Given the description of an element on the screen output the (x, y) to click on. 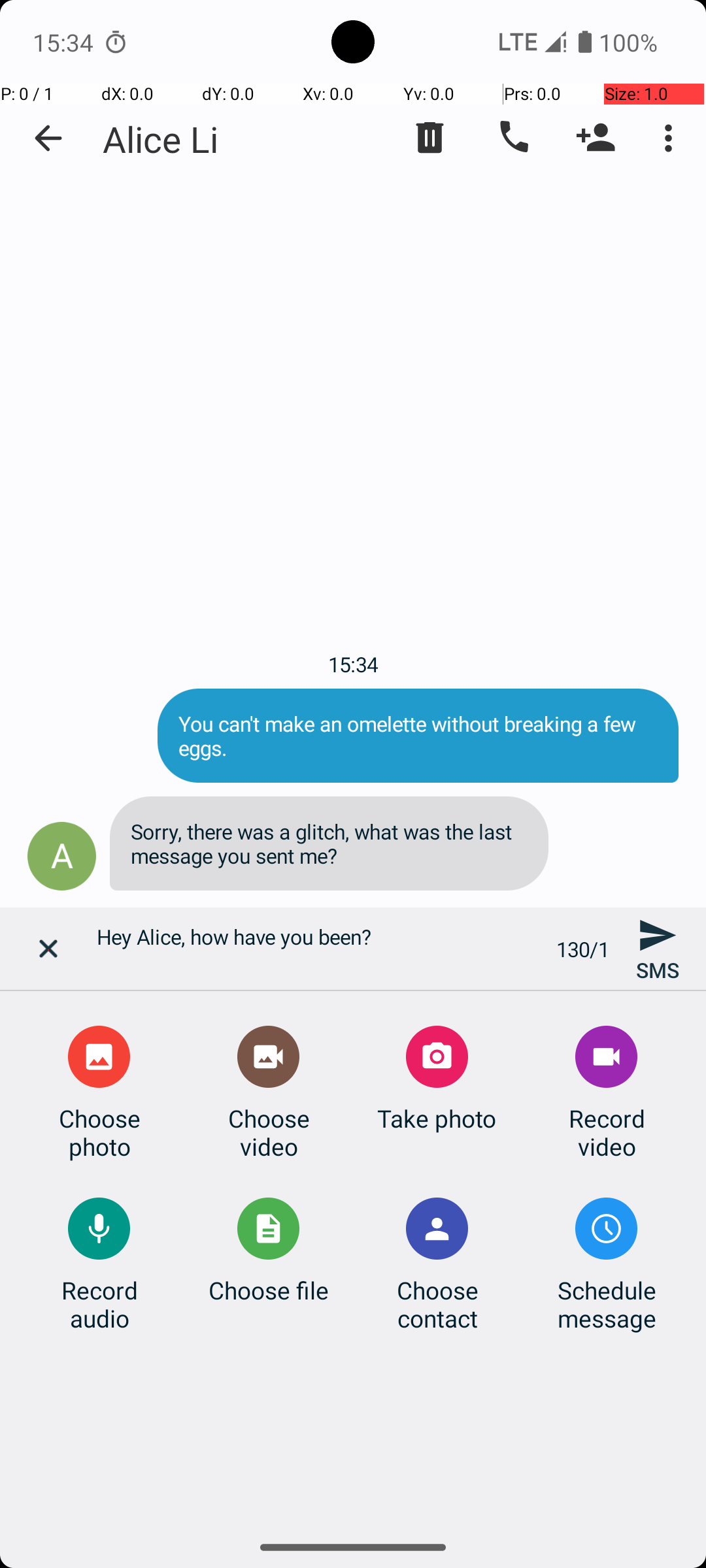
Alice Li Element type: android.widget.TextView (160, 138)
Hey Alice, how have you been?
 Element type: android.widget.EditText (318, 948)
130/1 Element type: android.widget.TextView (582, 948)
You can't make an omelette without breaking a few eggs. Element type: android.widget.TextView (417, 735)
Choose photo Element type: android.widget.TextView (98, 1131)
Choose video Element type: android.widget.TextView (268, 1131)
Record video Element type: android.widget.TextView (606, 1131)
Record audio Element type: android.widget.TextView (98, 1303)
Choose file Element type: android.widget.TextView (268, 1289)
Choose contact Element type: android.widget.TextView (436, 1303)
Schedule message Element type: android.widget.TextView (606, 1303)
